Given the description of an element on the screen output the (x, y) to click on. 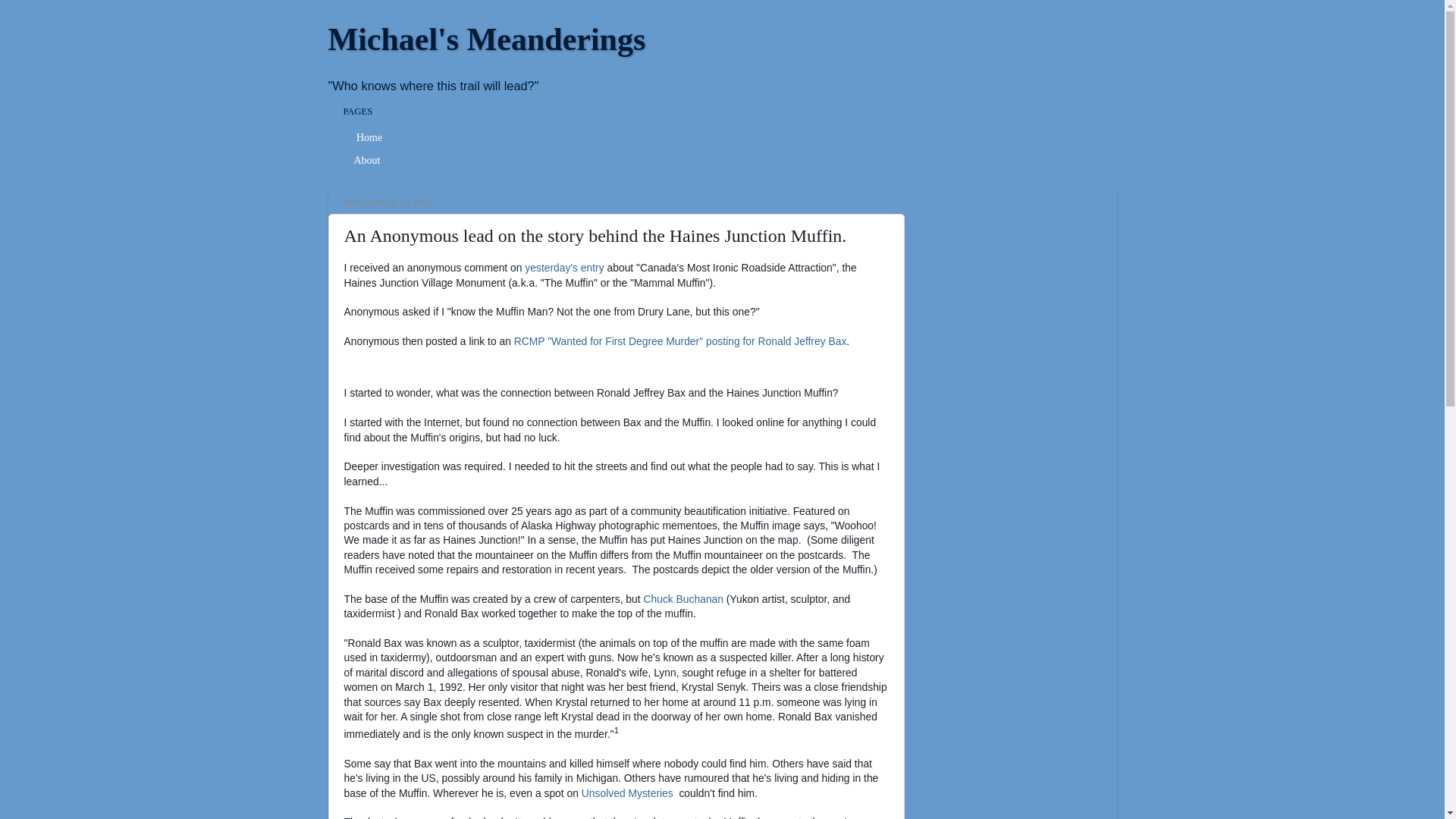
Home (367, 137)
About (366, 160)
Michael's Meanderings (486, 39)
yesterday's entry (565, 267)
Chuck Buchanan (683, 598)
Unsolved Mysteries (628, 793)
